Given the description of an element on the screen output the (x, y) to click on. 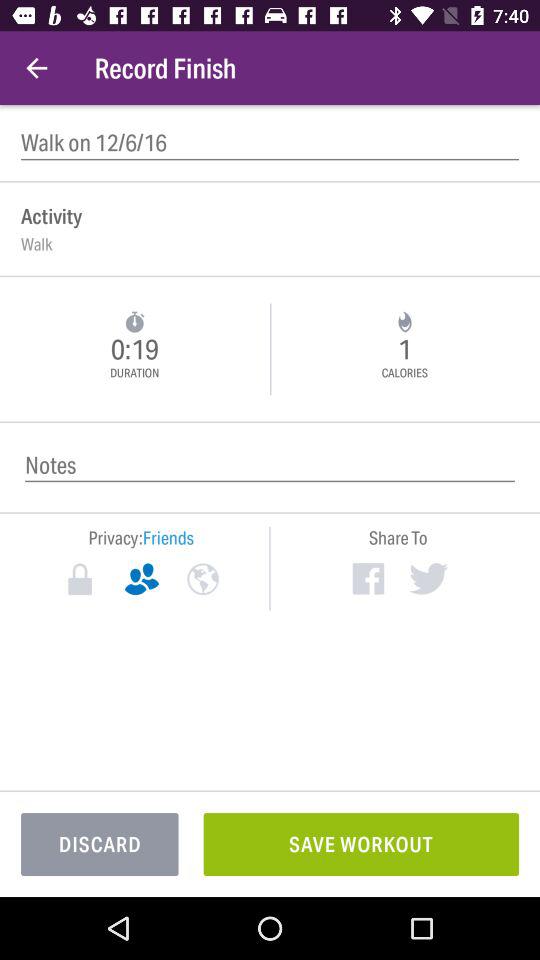
share to facebook (368, 578)
